Given the description of an element on the screen output the (x, y) to click on. 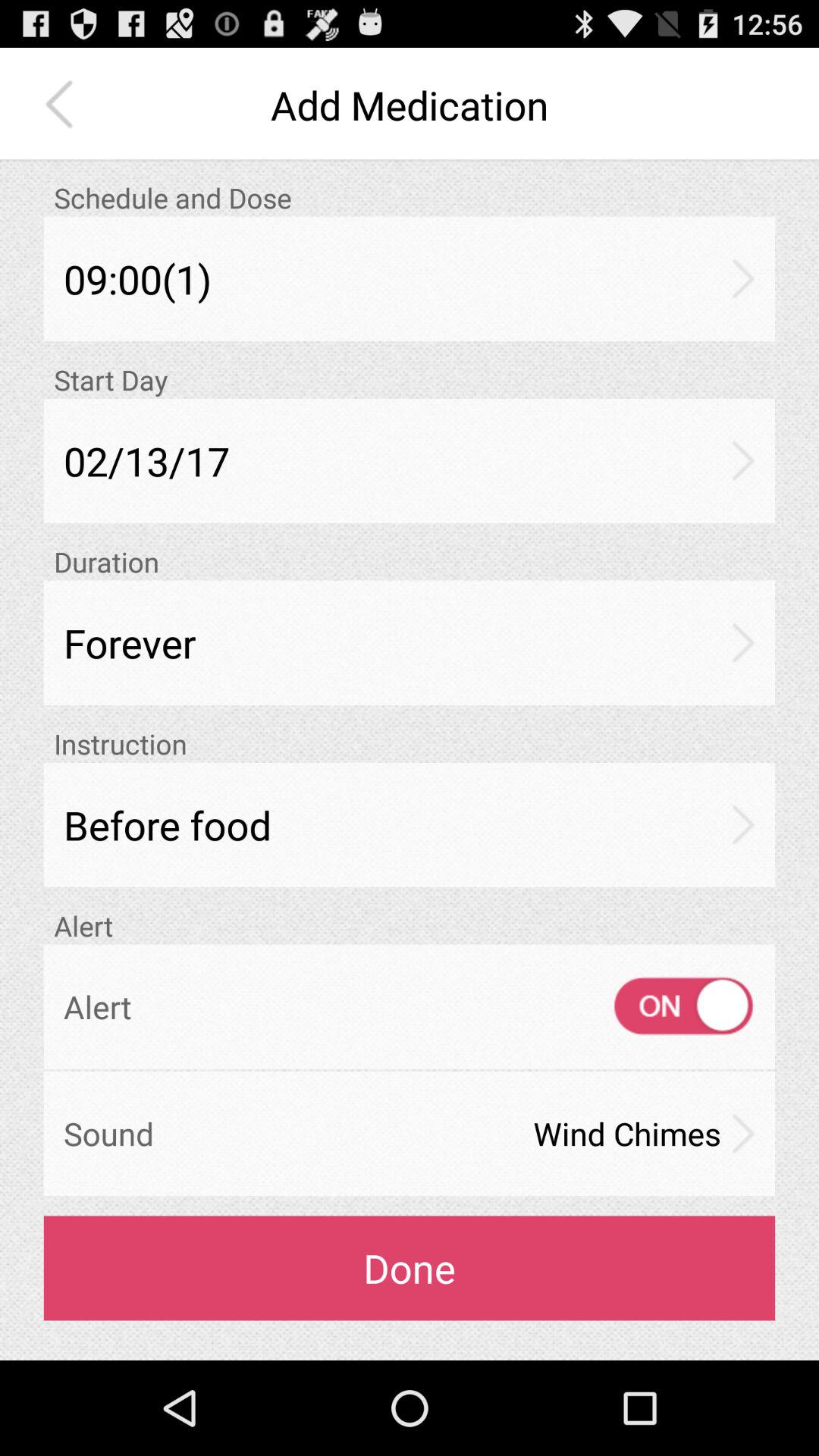
press the app below instruction item (409, 824)
